Given the description of an element on the screen output the (x, y) to click on. 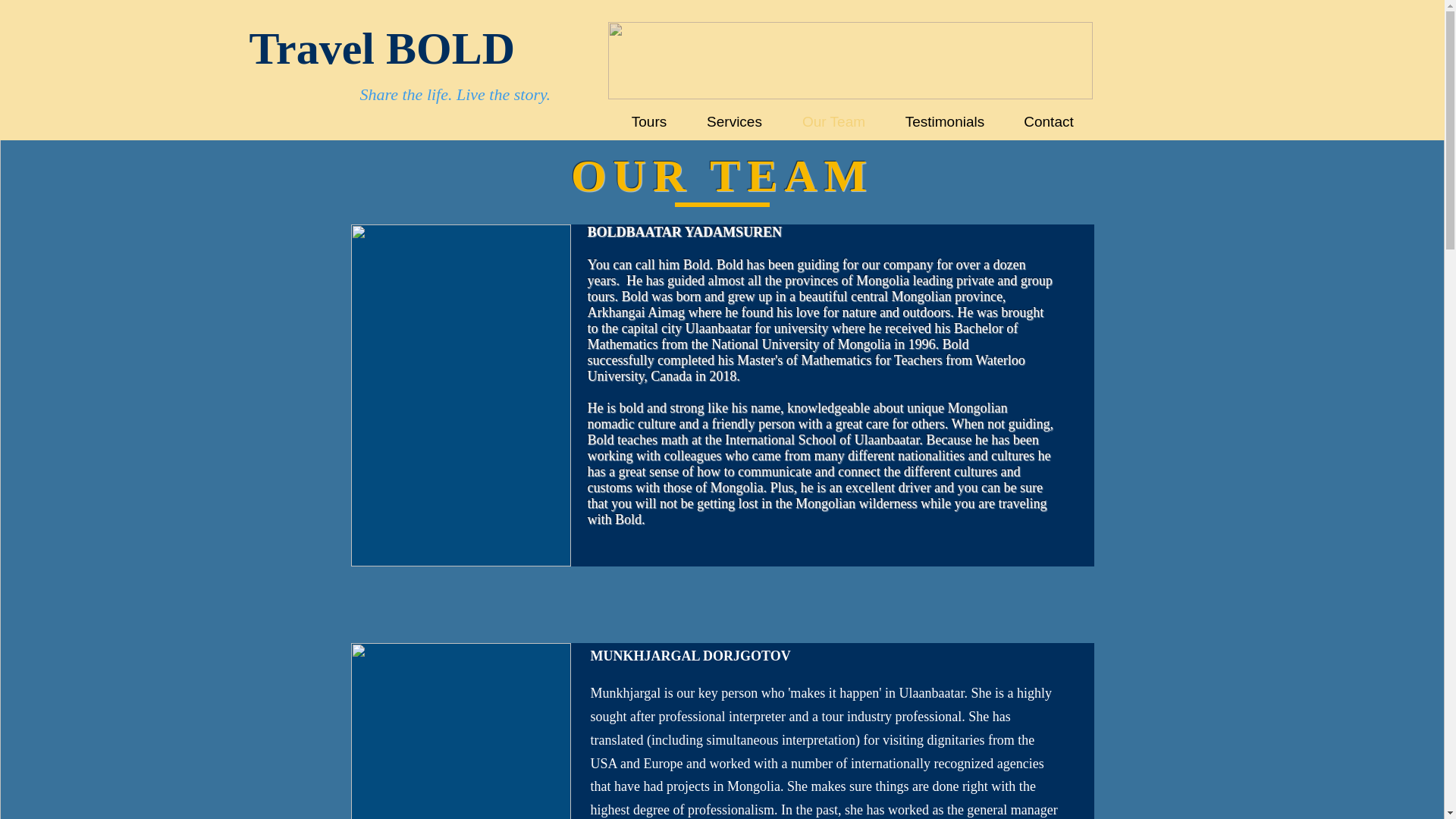
Our Team (834, 121)
Tours (648, 121)
Contact (1048, 121)
Services (735, 121)
Travel BOLD (381, 48)
Testimonials (944, 121)
